Given the description of an element on the screen output the (x, y) to click on. 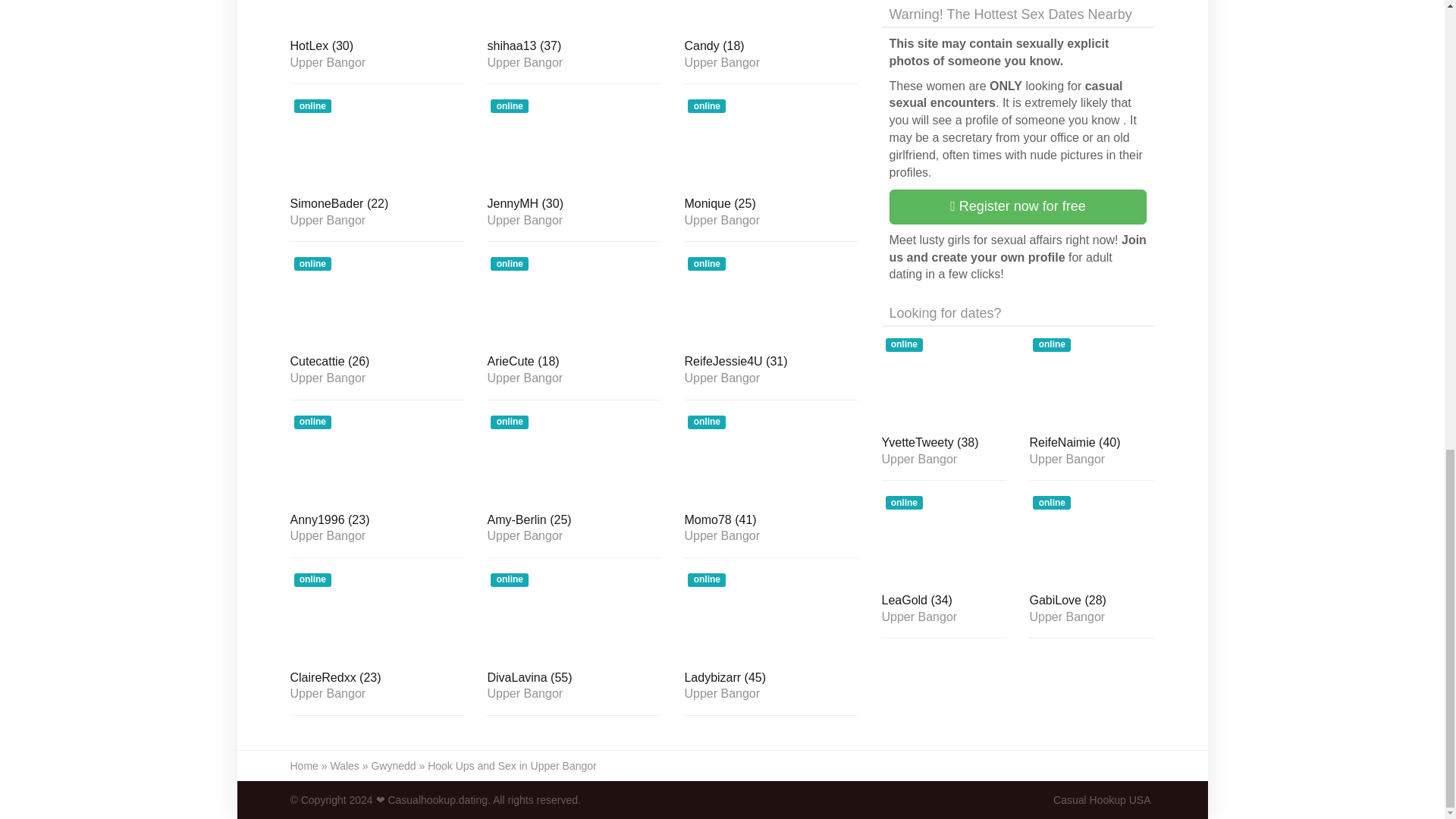
Upper Bangor (376, 62)
Upper Bangor (771, 62)
online (573, 15)
online (771, 15)
online (376, 142)
online (376, 15)
Date HotLex now! (376, 47)
Upper Bangor (376, 220)
online (573, 142)
Date HotLex now! (376, 15)
Upper Bangor (573, 62)
Date shihaa13 now! (573, 47)
Date shihaa13 now! (573, 15)
